Given the description of an element on the screen output the (x, y) to click on. 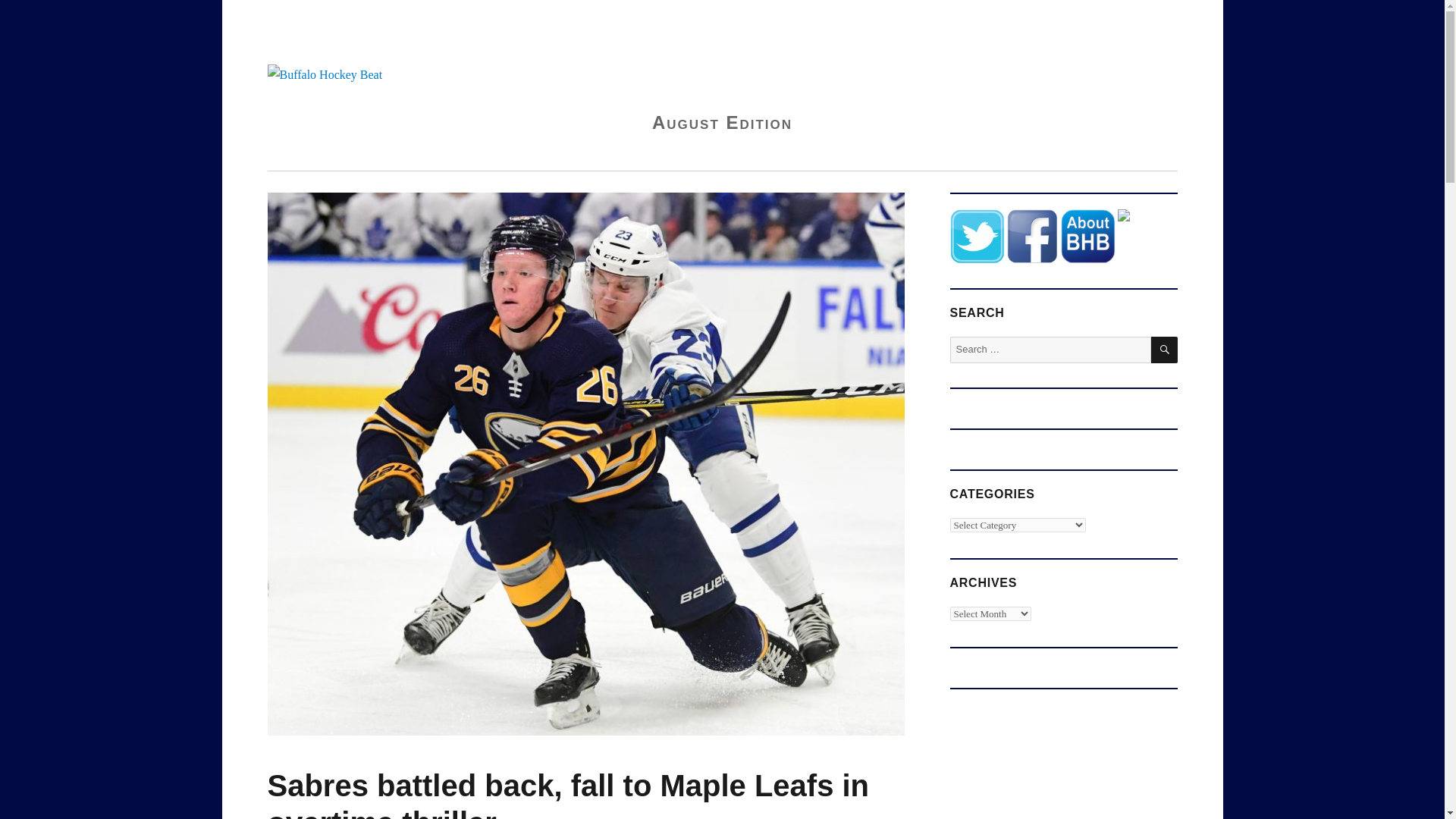
SEARCH (1164, 349)
Buffalo Hockey Beat (369, 33)
